Given the description of an element on the screen output the (x, y) to click on. 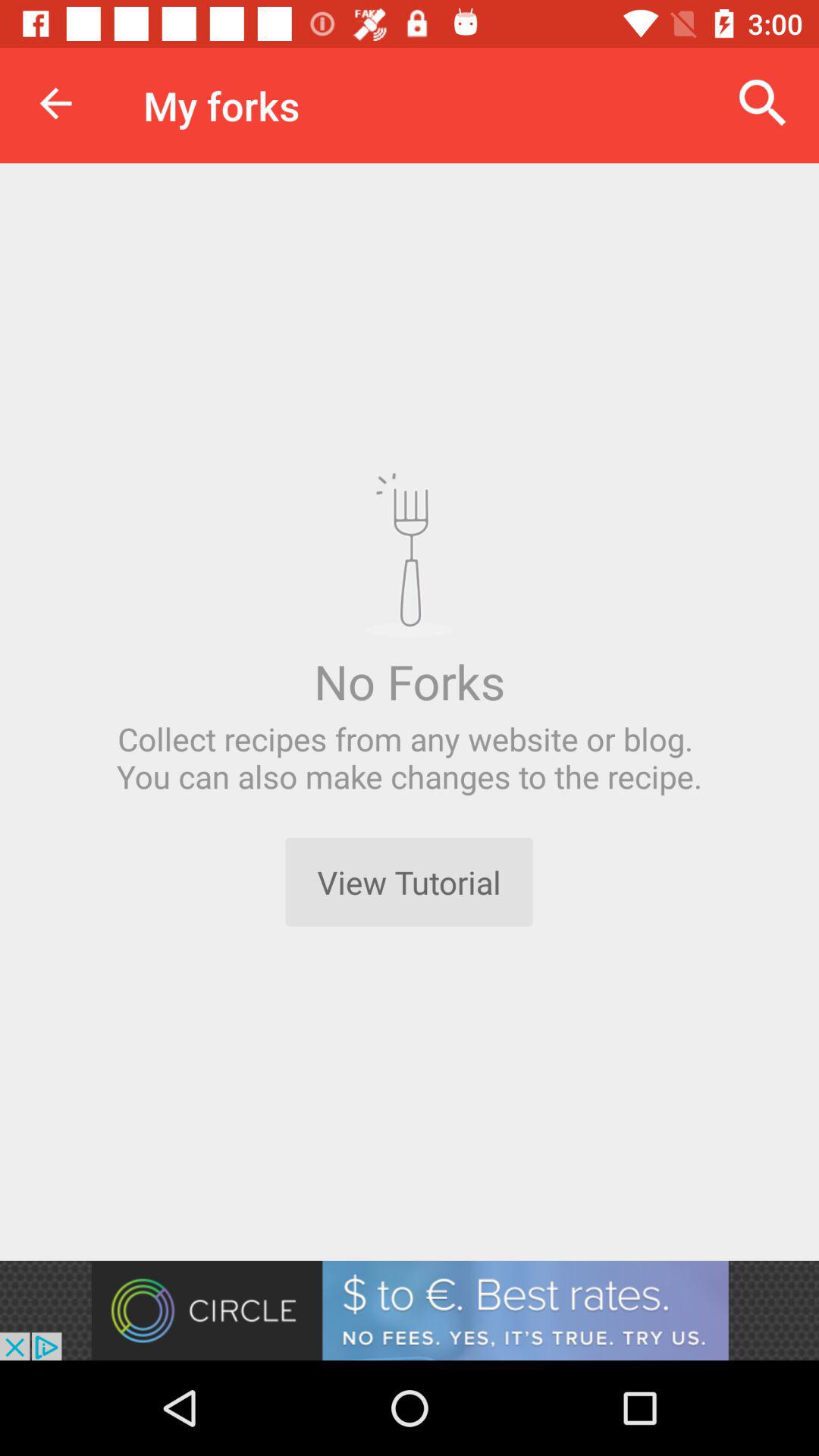
click to view advertisement (409, 1310)
